Given the description of an element on the screen output the (x, y) to click on. 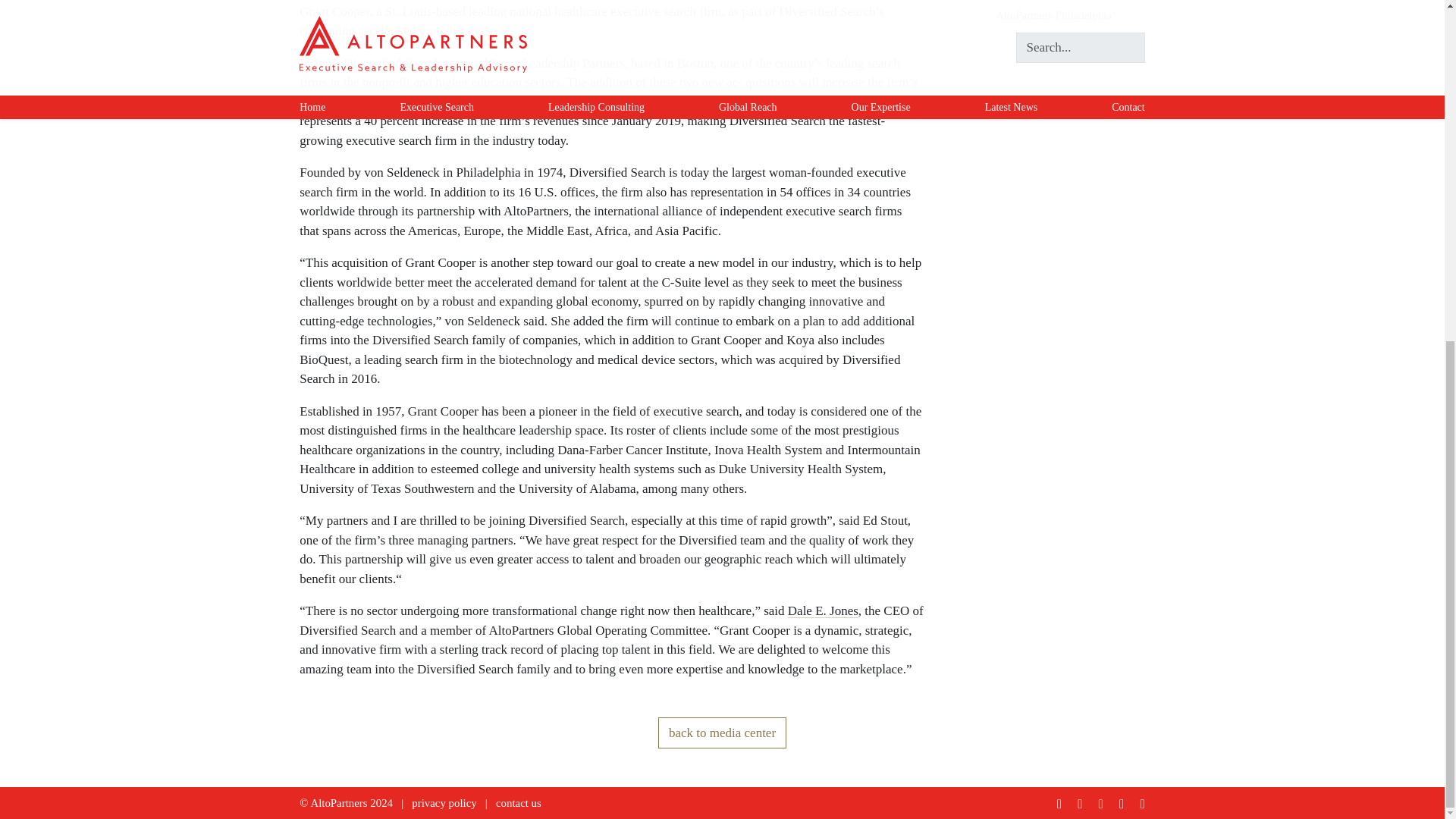
Dale E. Jones (823, 610)
back to media center (722, 732)
AltoPartners Philadelphia (1053, 15)
privacy policy (444, 802)
contact us (518, 802)
AltoPartners (338, 802)
